Given the description of an element on the screen output the (x, y) to click on. 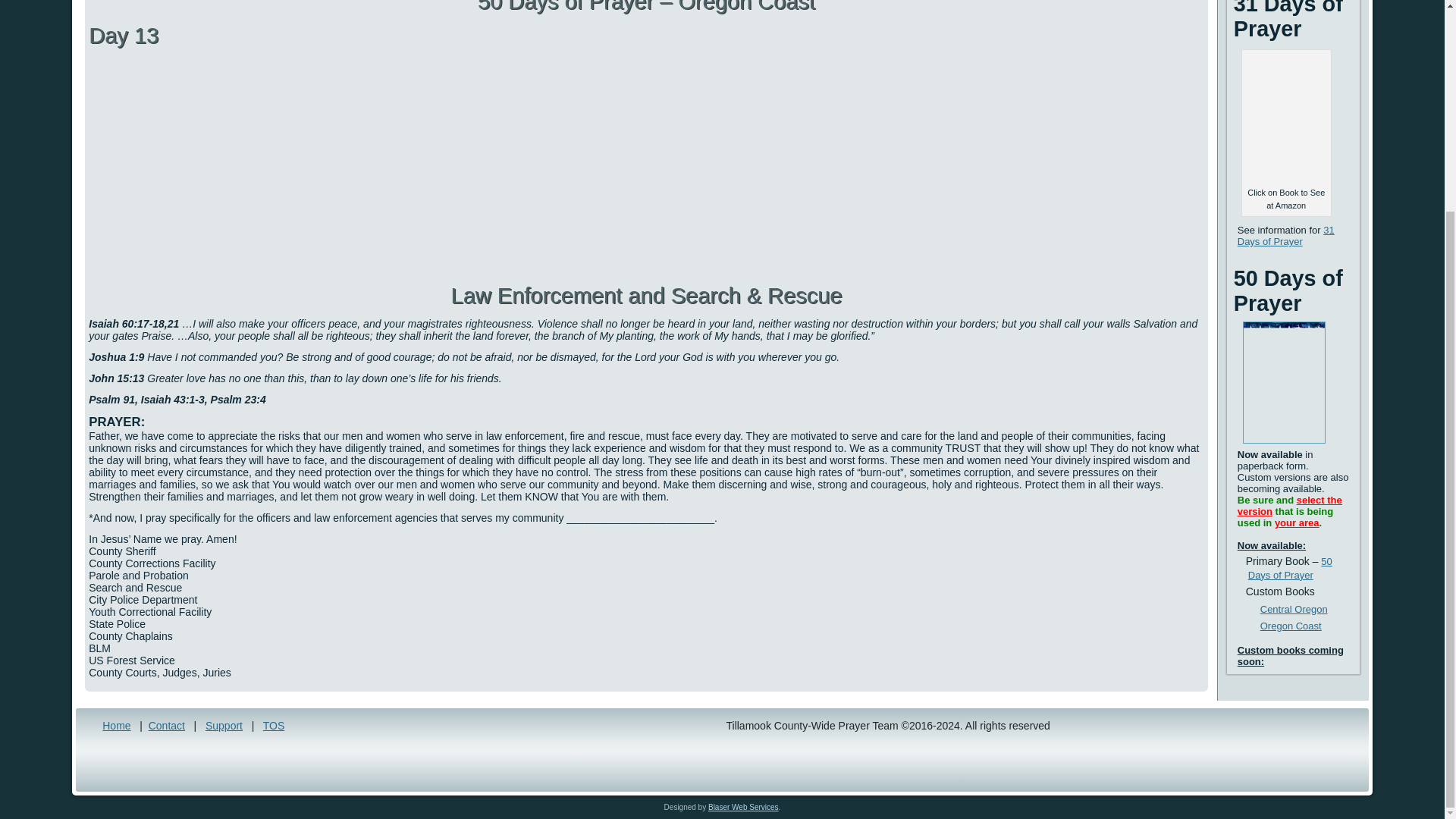
TOS (274, 725)
Support (224, 725)
Home (116, 725)
Contact (166, 725)
Blaser Web Services (742, 807)
31 Days of Prayer (1286, 235)
Central Oregon (1293, 609)
Oregon Coast (1291, 625)
50 Days of Prayer (1289, 568)
